Given the description of an element on the screen output the (x, y) to click on. 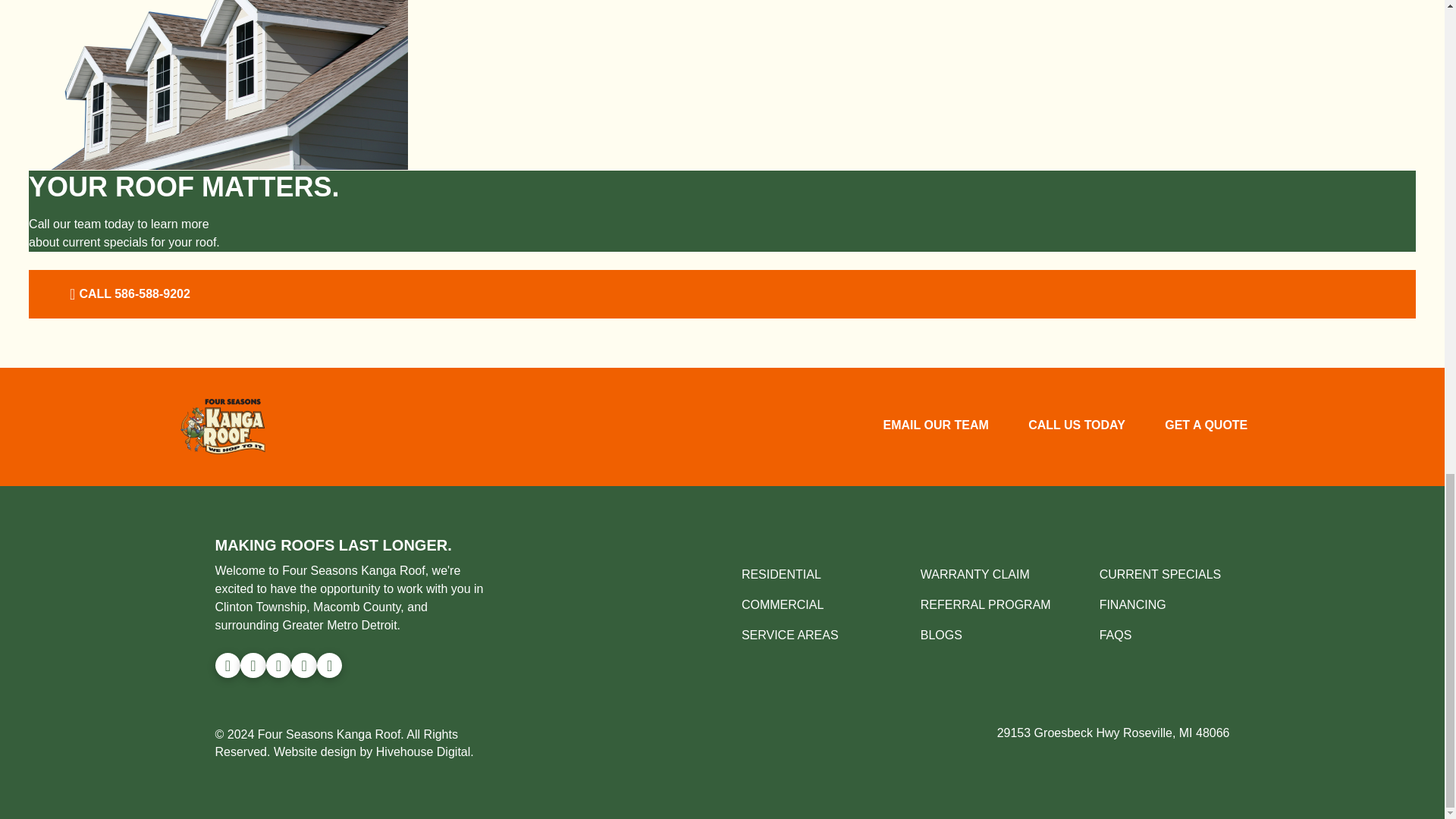
CALL US TODAY (1076, 425)
WARRANTY CLAIM (974, 574)
CALL 586-588-9202 (127, 294)
Website design by Hivehouse Digital. (373, 751)
GET A QUOTE (1205, 425)
FINANCING (1132, 604)
EMAIL OUR TEAM (935, 425)
FAQS (1115, 634)
CURRENT SPECIALS (1160, 574)
COMMERCIAL (782, 604)
